Given the description of an element on the screen output the (x, y) to click on. 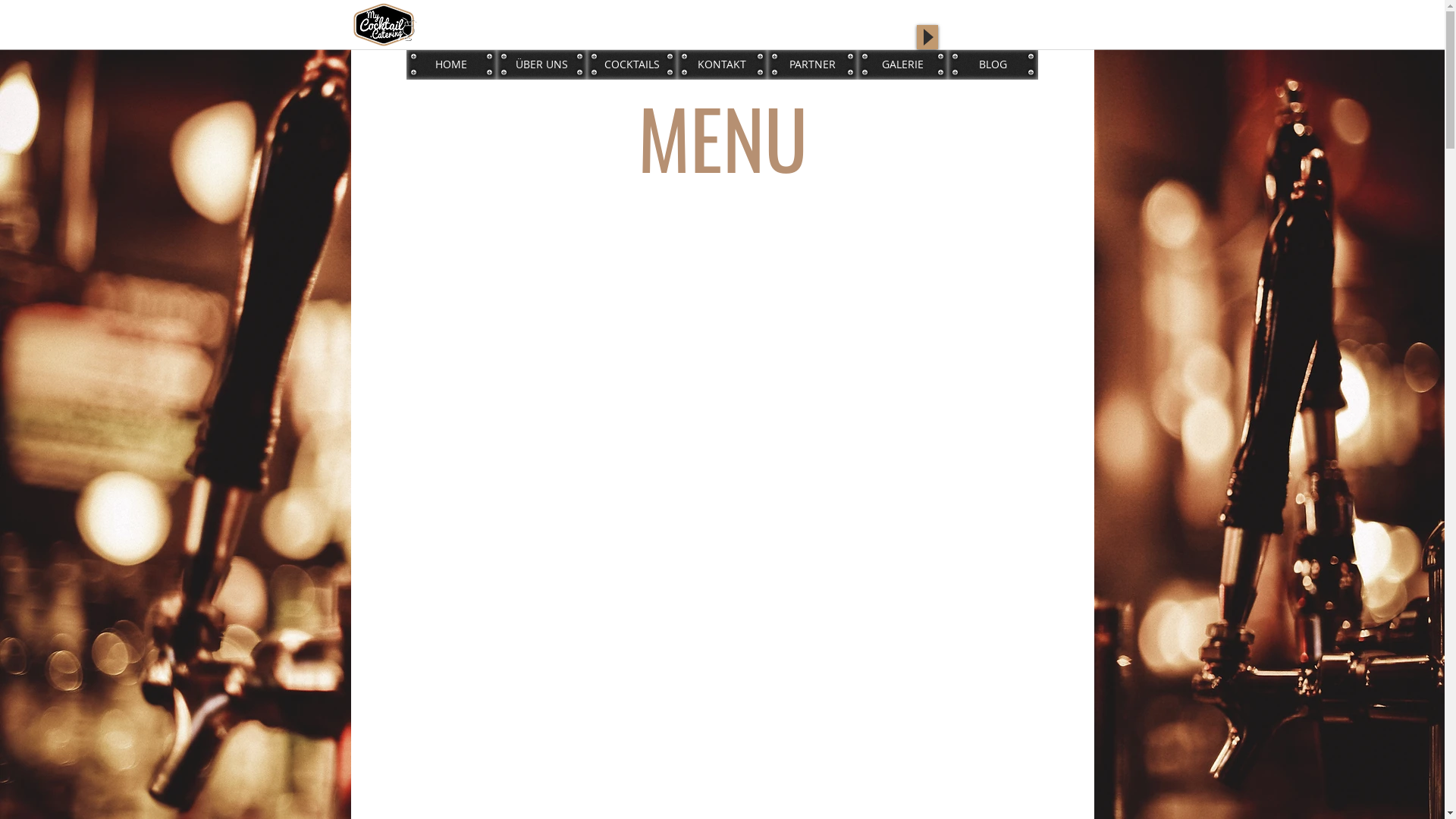
KONTAKT Element type: text (721, 64)
COCKTAILS Element type: text (631, 64)
GALERIE Element type: text (901, 64)
HOME Element type: text (451, 64)
PARTNER Element type: text (812, 64)
BLOG Element type: text (992, 64)
